Given the description of an element on the screen output the (x, y) to click on. 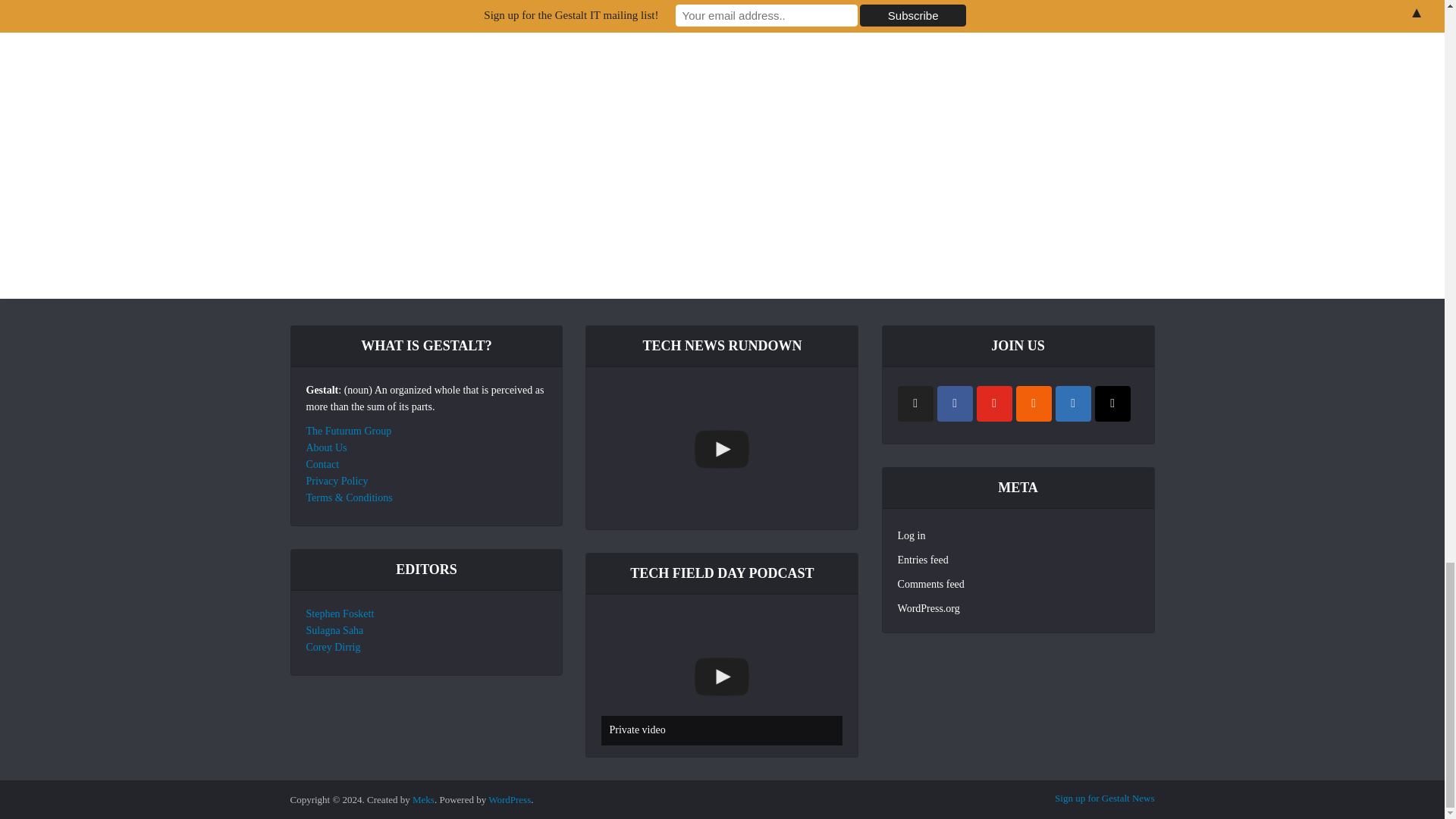
Facebook (954, 403)
RSS (1033, 403)
YouTube (993, 403)
Private video (722, 677)
Linkedin (1072, 403)
Mail (1112, 403)
